Given the description of an element on the screen output the (x, y) to click on. 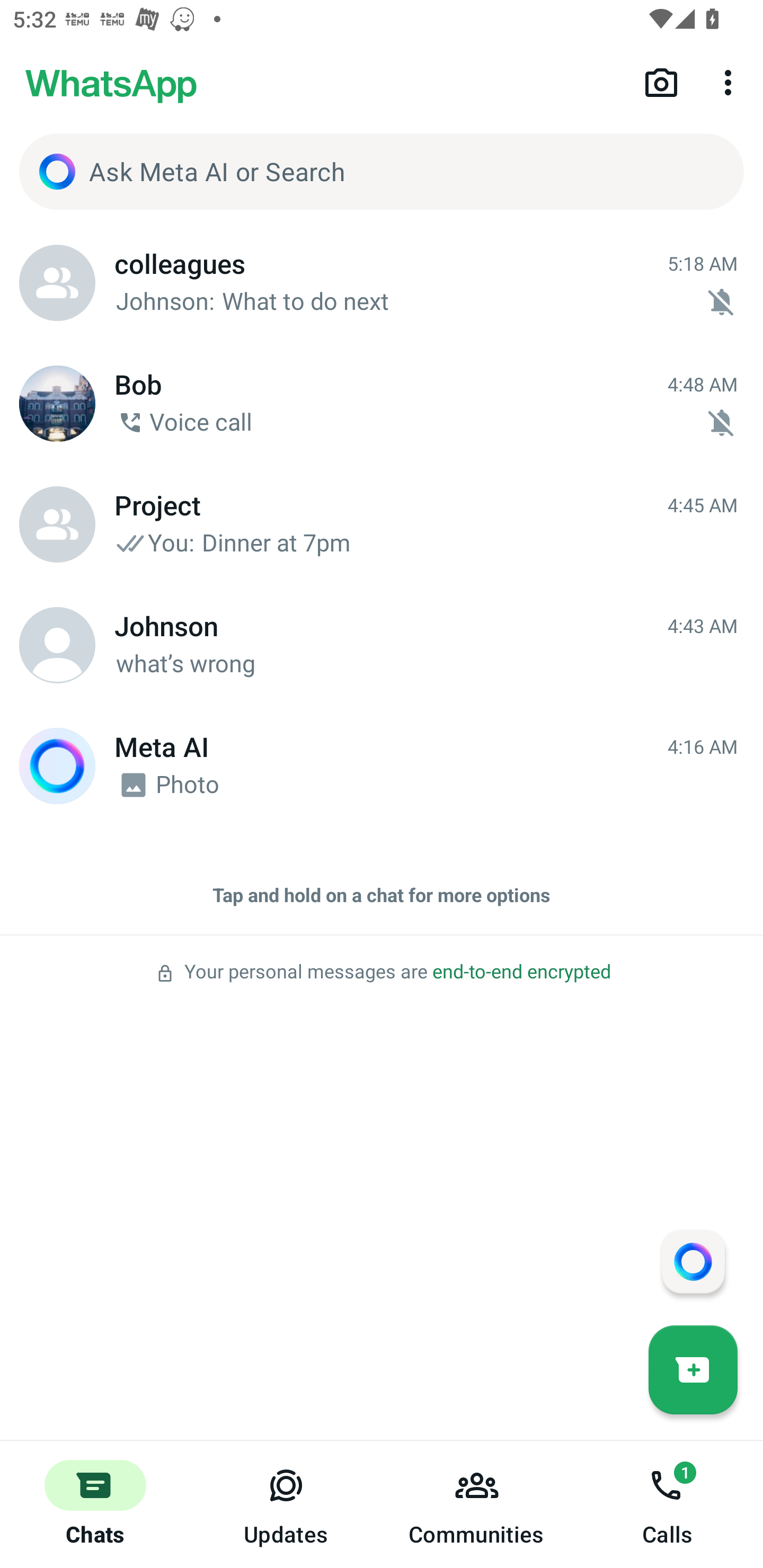
Camera (661, 81)
More options (731, 81)
colleagues (57, 282)
Bob (57, 403)
Project (57, 524)
Johnson Johnson 4:43 AM 4:43 AM what’s wrong (381, 644)
Johnson (57, 644)
Meta AI Meta AI 4:16 AM 4:16 AM Photo (381, 765)
Meta AI (57, 765)
end-to-end encrypted (521, 972)
Message your assistant (692, 1261)
New chat (692, 1369)
Updates (285, 1504)
Communities (476, 1504)
Calls, 1 new notification Calls (667, 1504)
